Given the description of an element on the screen output the (x, y) to click on. 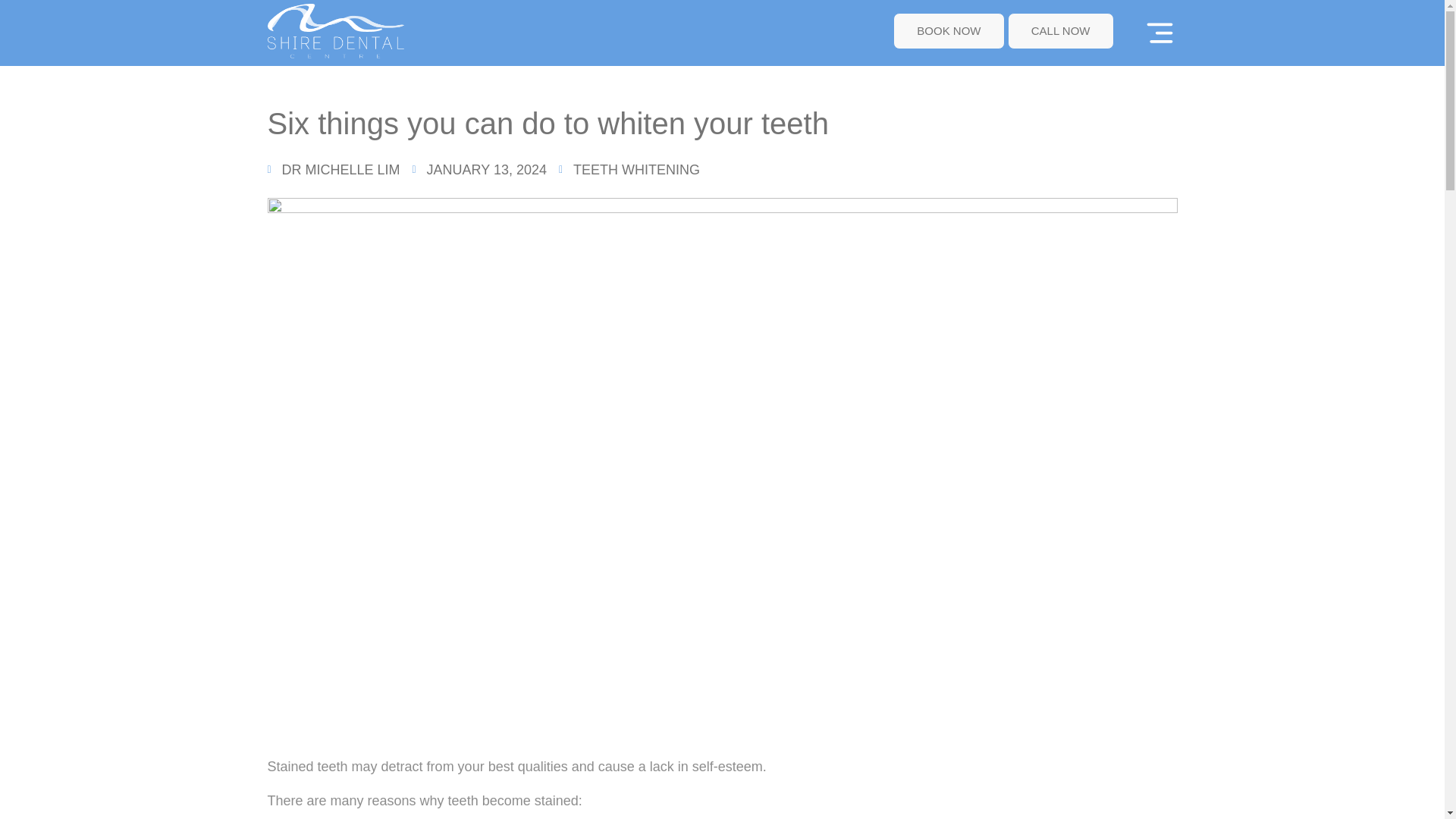
TEETH WHITENING (636, 169)
CALL NOW (1060, 31)
DR MICHELLE LIM (332, 169)
BOOK NOW (948, 31)
JANUARY 13, 2024 (479, 169)
